Given the description of an element on the screen output the (x, y) to click on. 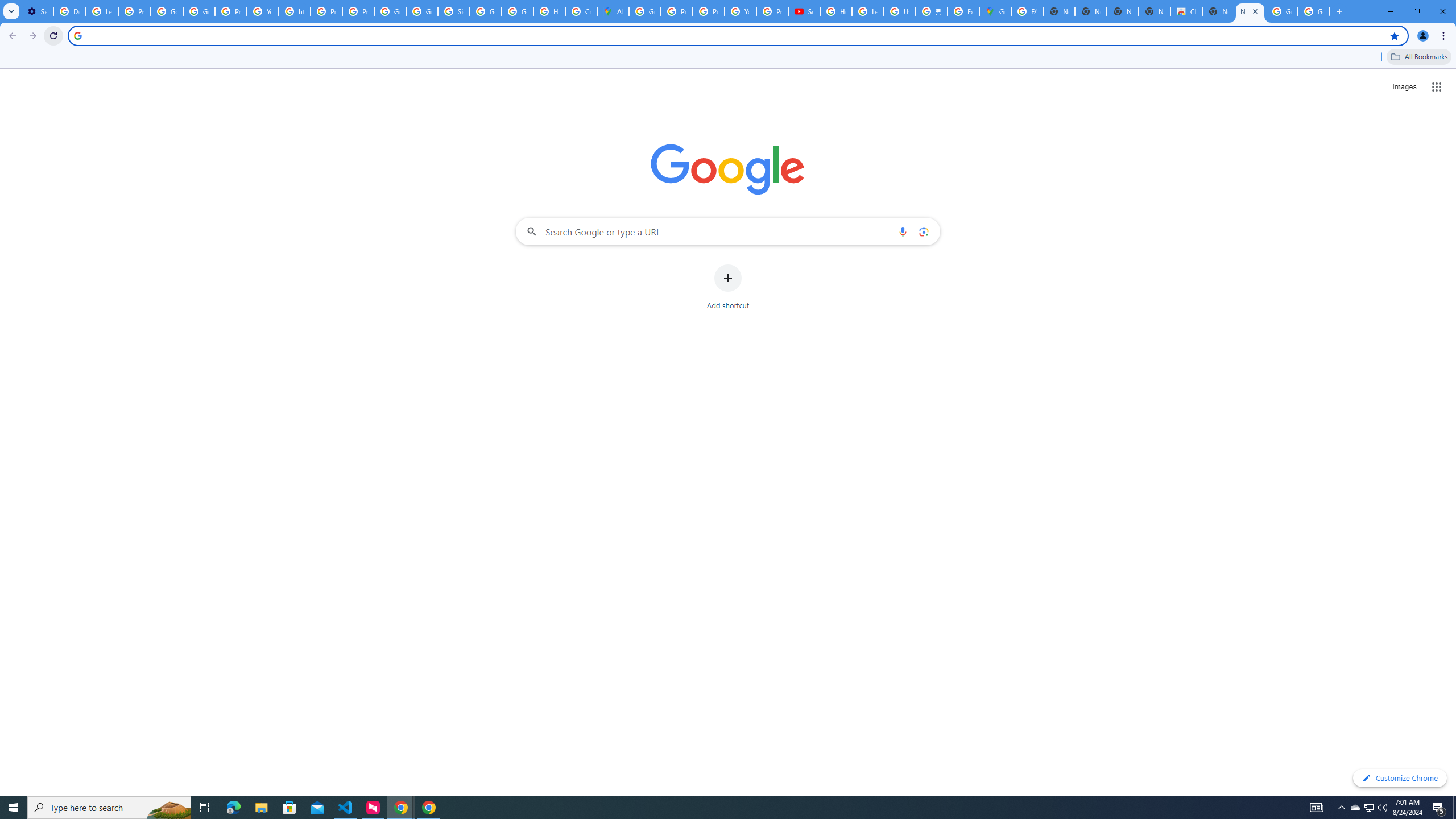
Learn how to find your photos - Google Photos Help (101, 11)
Create your Google Account (581, 11)
How Chrome protects your passwords - Google Chrome Help (836, 11)
YouTube (740, 11)
New Tab (1249, 11)
